Given the description of an element on the screen output the (x, y) to click on. 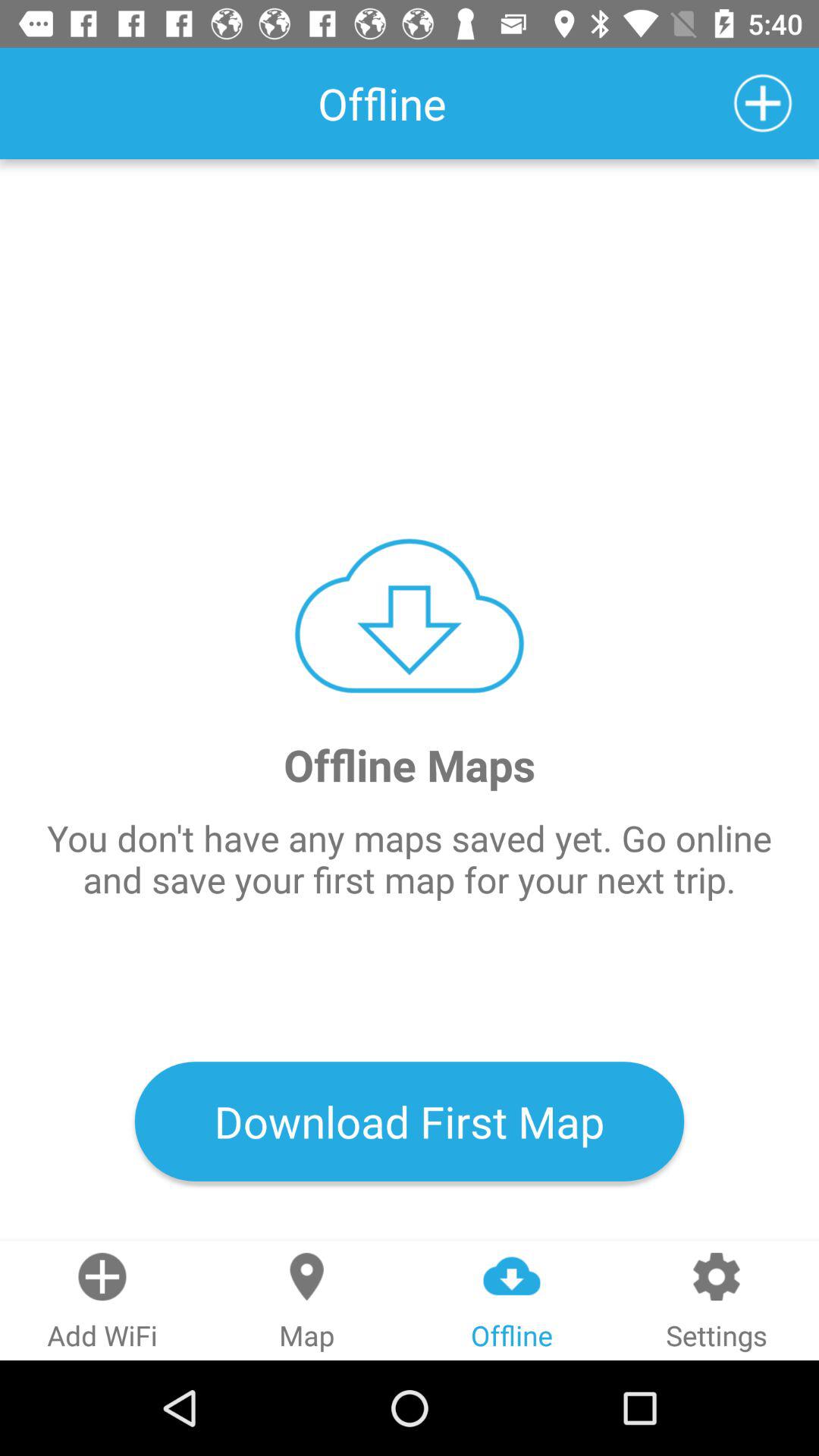
select the download icon from the middle (409, 615)
click on icon which is at top right corner (763, 103)
select the option map on the bottom of the page (306, 1300)
click on download first map (409, 1120)
